Given the description of an element on the screen output the (x, y) to click on. 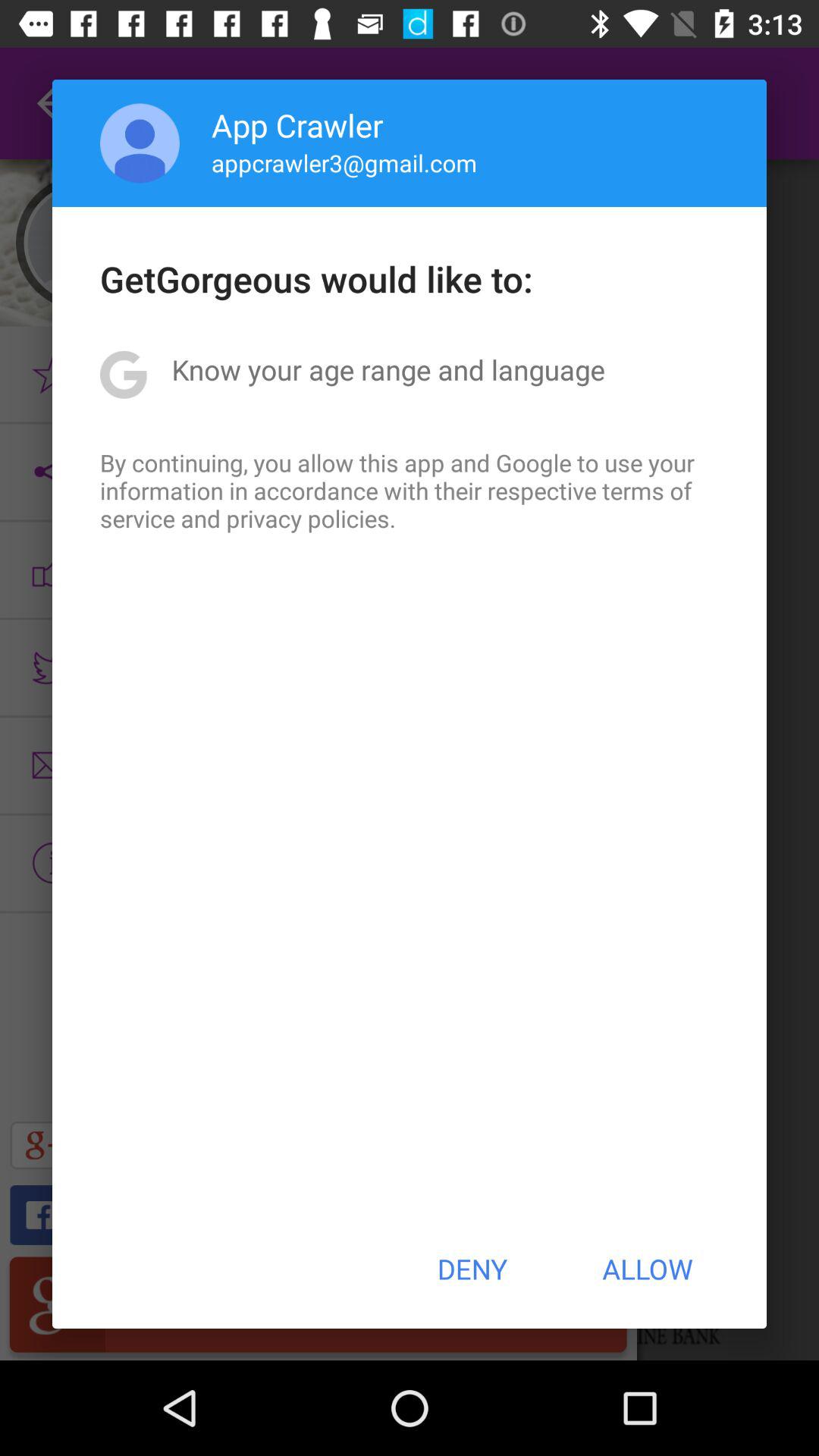
open know your age item (388, 369)
